Given the description of an element on the screen output the (x, y) to click on. 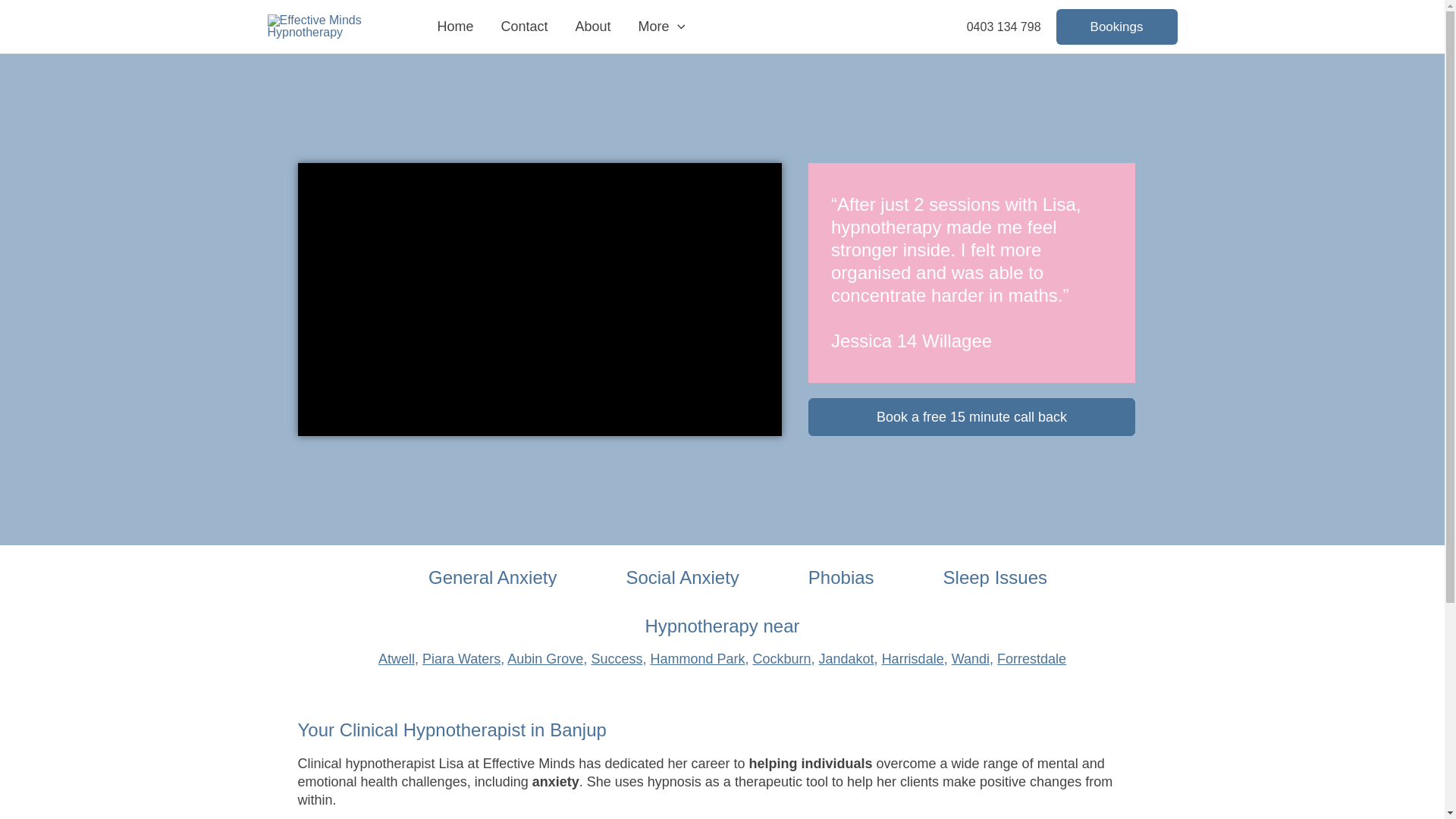
vimeo Video Player Element type: hover (539, 299)
Harrisdale Element type: text (912, 658)
Hammond Park Element type: text (696, 658)
Contact Element type: text (524, 26)
Piara Waters Element type: text (461, 658)
Cockburn Element type: text (781, 658)
Wandi Element type: text (970, 658)
About Element type: text (592, 26)
Forrestdale Element type: text (1031, 658)
More Element type: text (661, 26)
Book a free 15 minute call back Element type: text (971, 417)
Bookings Element type: text (1116, 26)
Jandakot Element type: text (846, 658)
Aubin Grove Element type: text (545, 658)
Home Element type: text (454, 26)
Success Element type: text (616, 658)
Atwell Element type: text (396, 658)
0403 134 798 Element type: text (1003, 25)
